Given the description of an element on the screen output the (x, y) to click on. 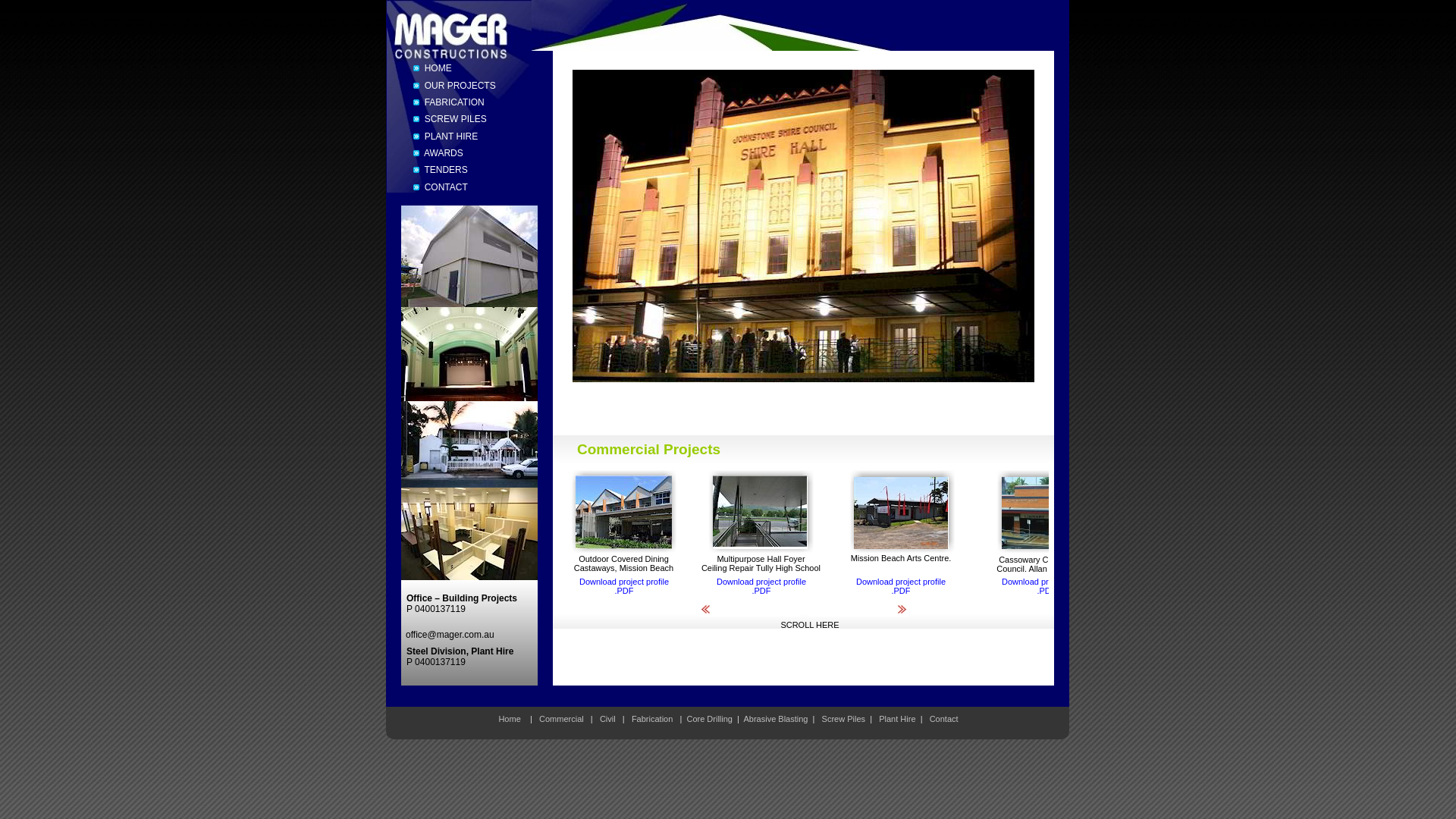
Abrasive Blasting Element type: text (775, 718)
Screw Piles Element type: text (843, 718)
office@mager.com.au Element type: text (449, 634)
Commercial Element type: text (561, 718)
  PLANT HIRE Element type: text (467, 135)
  CONTACT Element type: text (467, 186)
  AWARDS Element type: text (467, 152)
Home Element type: text (509, 718)
Civil Element type: text (607, 718)
Core Drilling Element type: text (709, 718)
  OUR PROJECTS Element type: text (467, 84)
Fabrication Element type: text (651, 718)
  HOME Element type: text (467, 67)
Contact Element type: text (943, 718)
  FABRICATION Element type: text (467, 102)
  SCREW PILES Element type: text (467, 118)
  TENDERS Element type: text (467, 169)
Plant Hire Element type: text (896, 718)
